Given the description of an element on the screen output the (x, y) to click on. 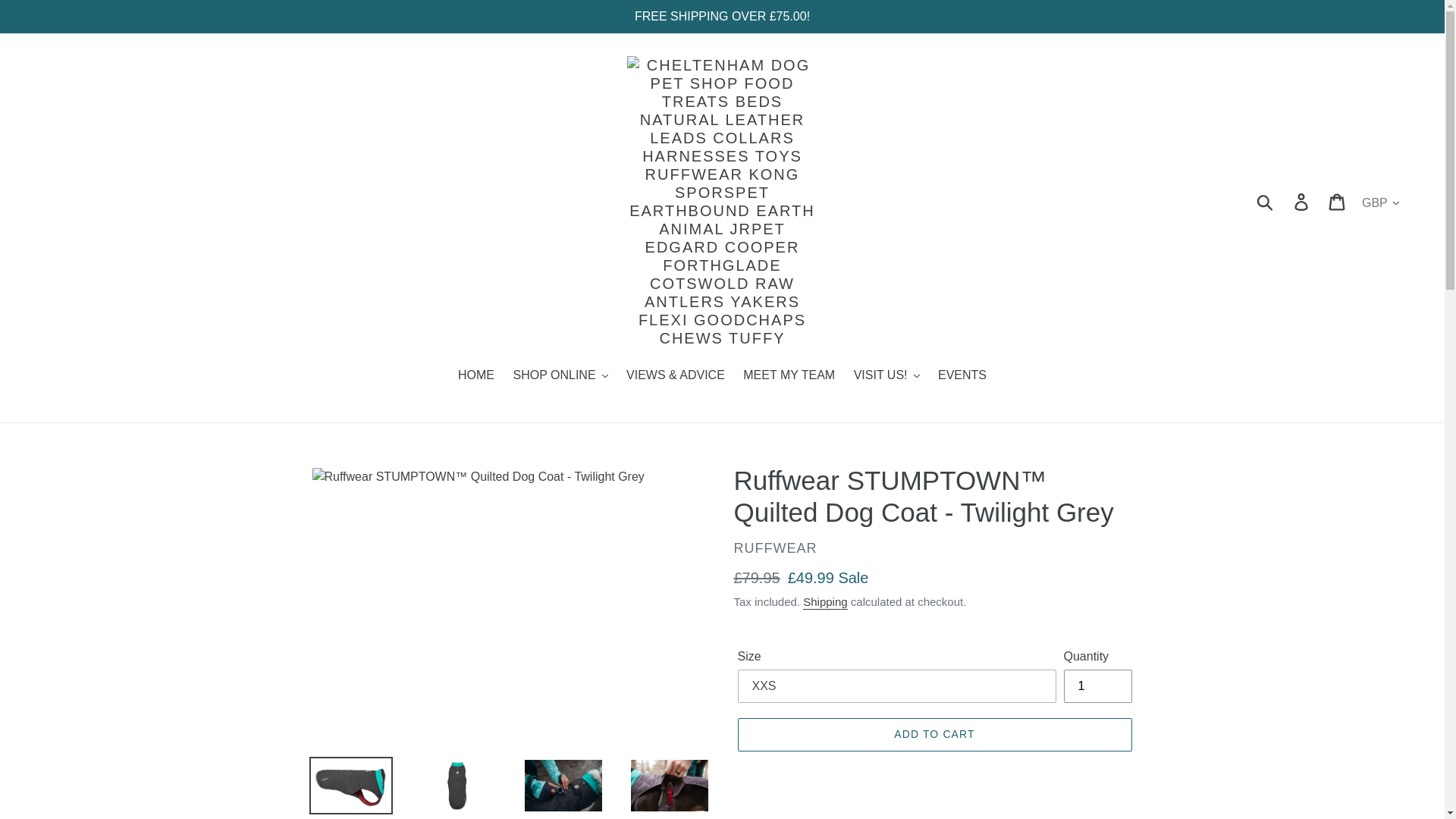
1 (1096, 685)
Log in (1302, 201)
Submit (1265, 201)
Cart (1337, 201)
